Given the description of an element on the screen output the (x, y) to click on. 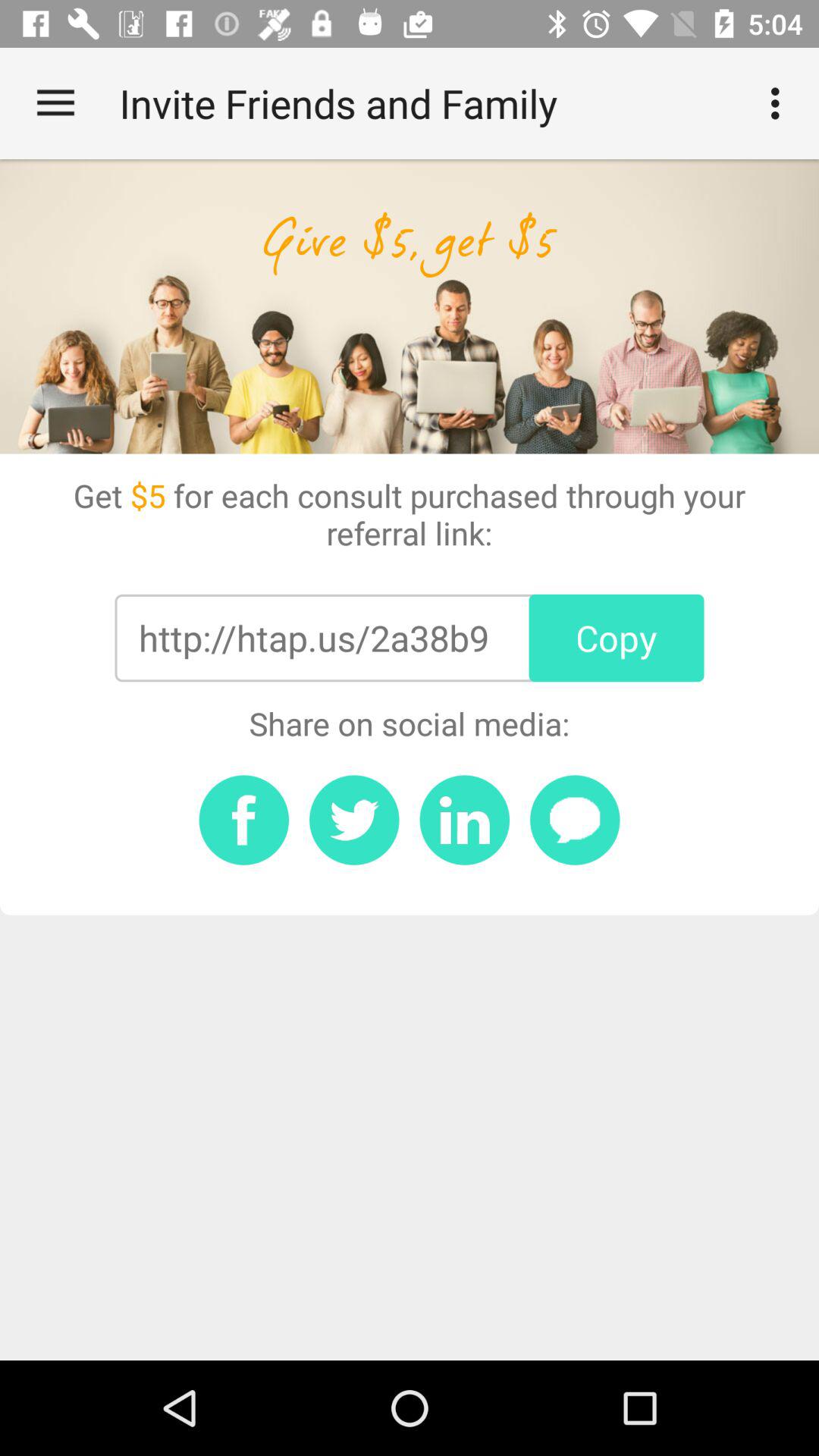
flip to http htap us item (313, 637)
